Given the description of an element on the screen output the (x, y) to click on. 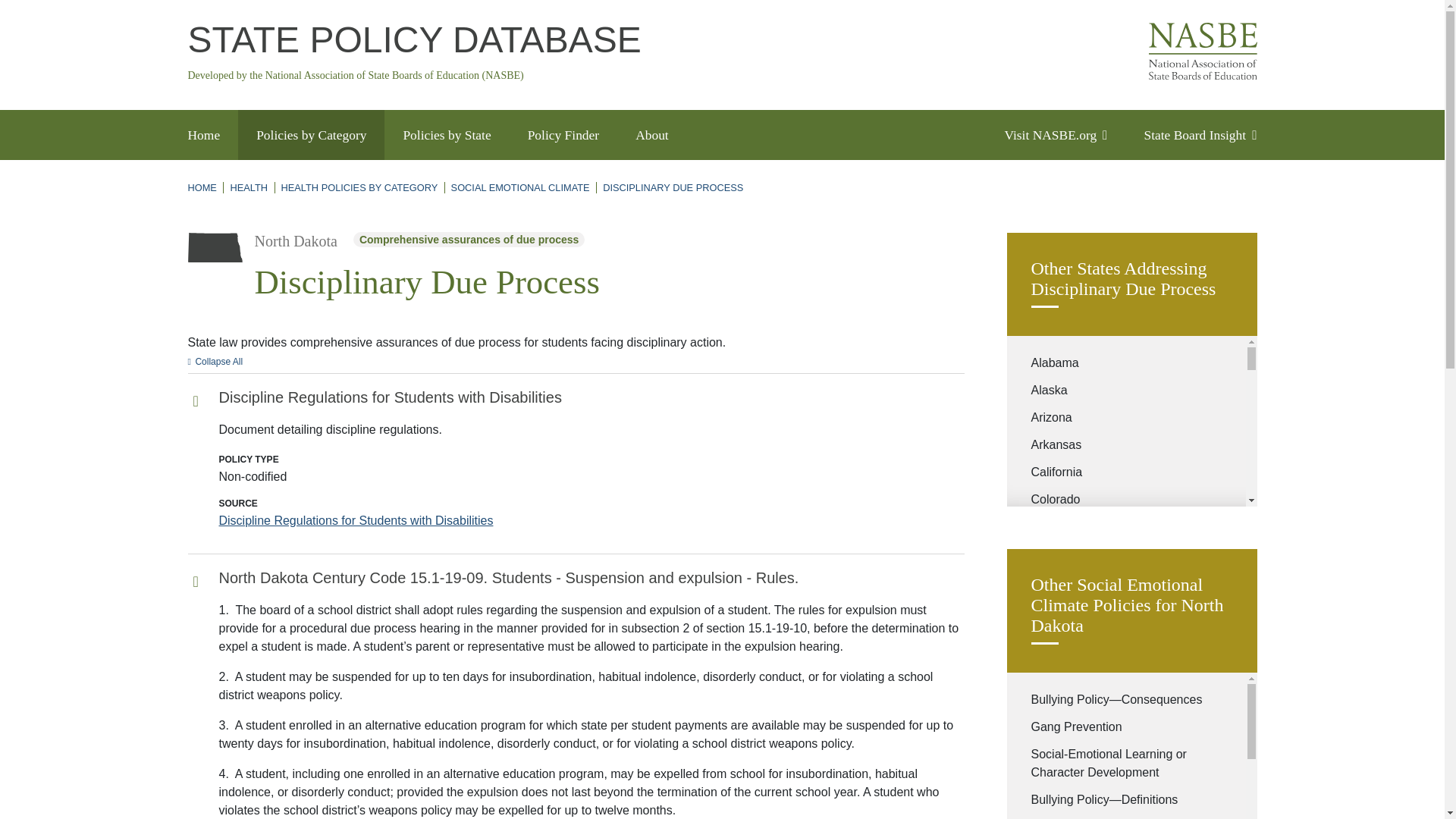
Georgia (1052, 635)
Home (414, 39)
Delaware (1056, 553)
Iowa (1043, 799)
Indiana (1050, 771)
Connecticut (1063, 526)
STATE POLICY DATABASE (414, 39)
Guam (1047, 662)
District of Columbia (1083, 581)
